Given the description of an element on the screen output the (x, y) to click on. 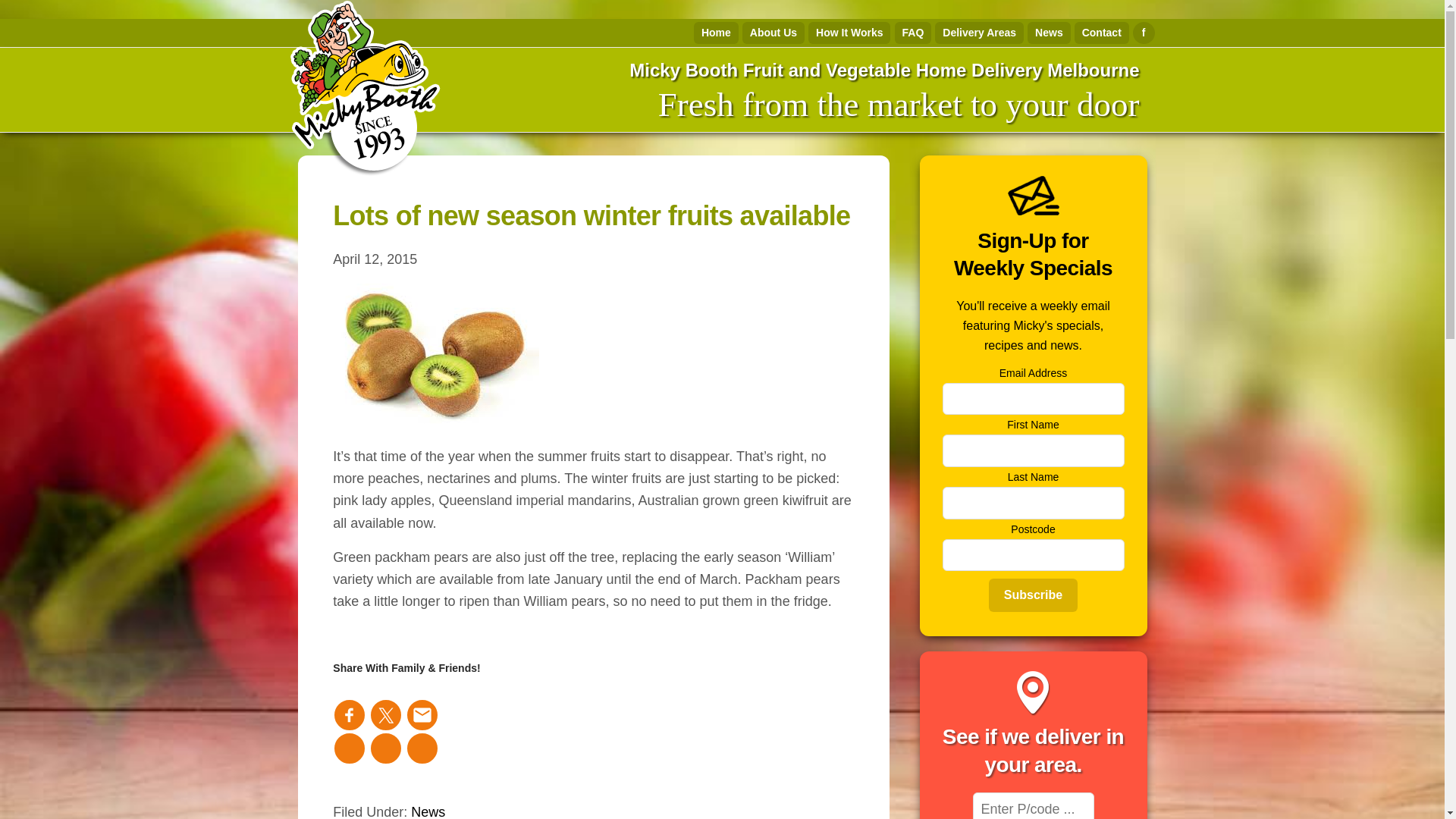
News (1048, 33)
Delivery Areas (978, 33)
Home (716, 33)
Micky Booth Fruit and Vegetable Home Delivery Melbourne (883, 69)
How It Works (848, 33)
Subscribe (1032, 594)
f (1143, 33)
Contact (1101, 33)
FAQ (913, 33)
About Us (773, 33)
